Given the description of an element on the screen output the (x, y) to click on. 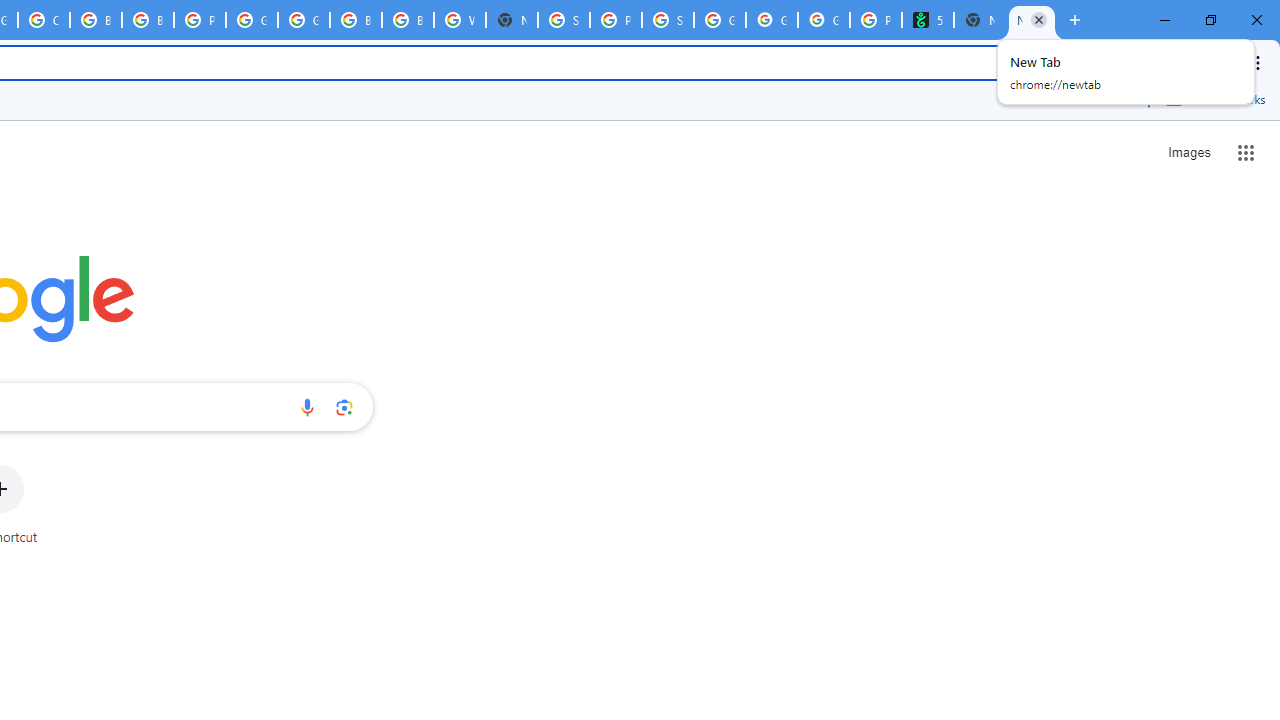
Google apps (1245, 152)
Close (1039, 19)
Browse Chrome as a guest - Computer - Google Chrome Help (95, 20)
Google Cloud Platform (303, 20)
Browse Chrome as a guest - Computer - Google Chrome Help (355, 20)
Google Cloud Platform (251, 20)
You (1221, 62)
New Tab (1075, 20)
New Tab (511, 20)
Sign in - Google Accounts (563, 20)
All Bookmarks (1215, 99)
